Given the description of an element on the screen output the (x, y) to click on. 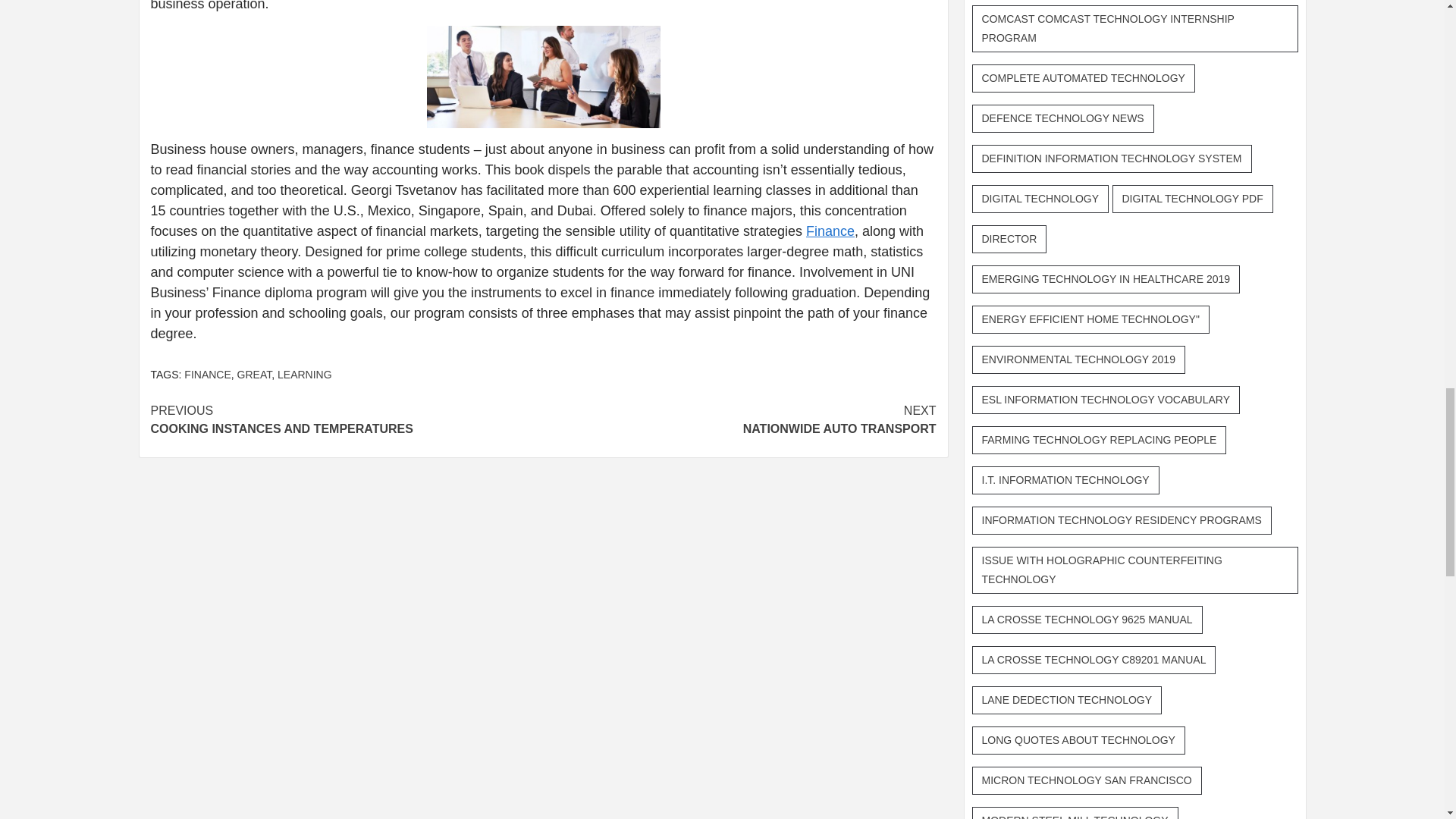
Finance (739, 420)
LEARNING (830, 231)
FINANCE (304, 374)
GREAT (346, 420)
